Given the description of an element on the screen output the (x, y) to click on. 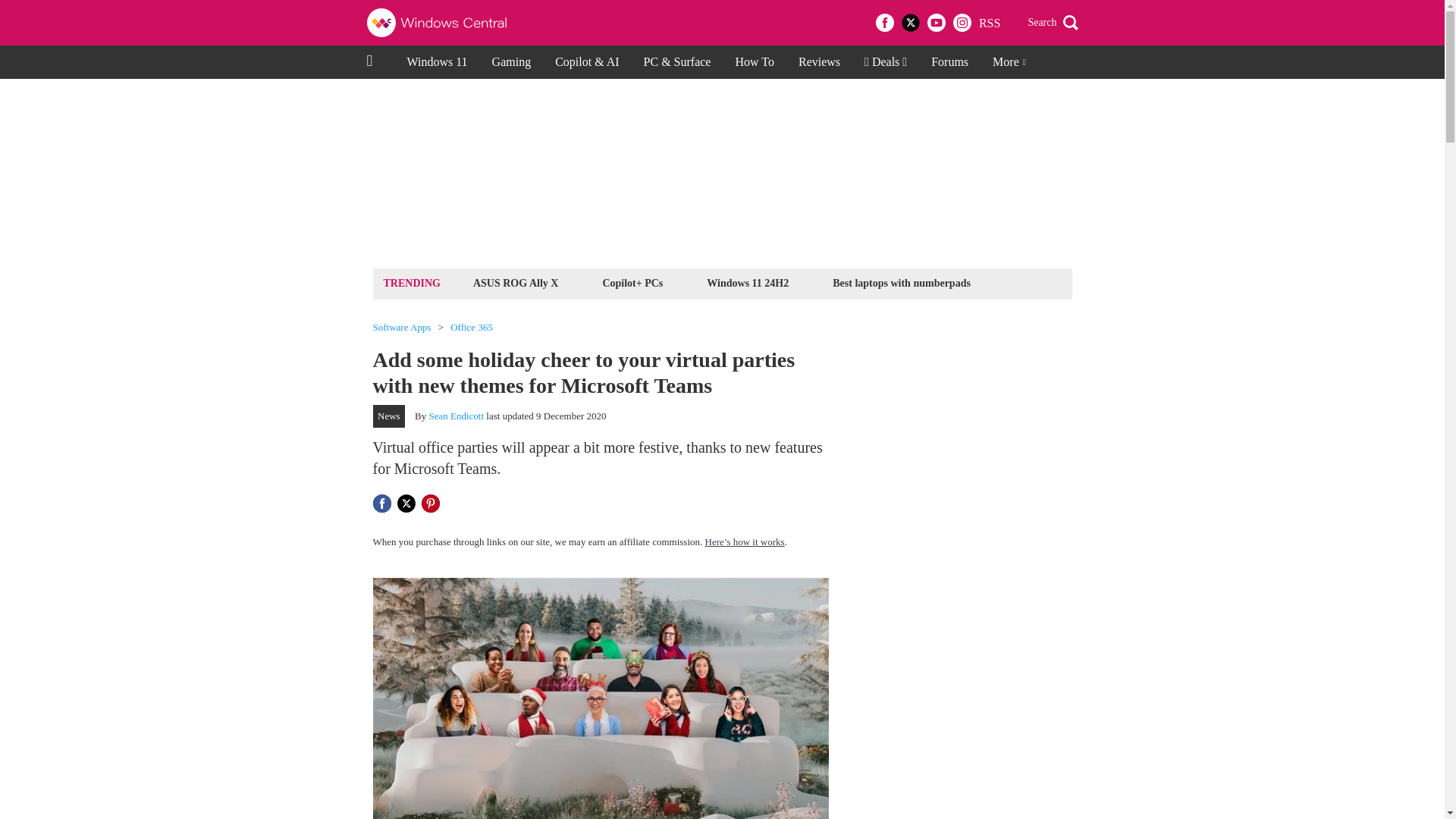
Windows 11 24H2 (747, 282)
Best laptops with numberpads (901, 282)
News (389, 415)
How To (754, 61)
Office 365 (471, 327)
Sean Endicott (456, 415)
Software Apps (401, 327)
Gaming (511, 61)
Forums (948, 61)
Windows 11 (436, 61)
